Given the description of an element on the screen output the (x, y) to click on. 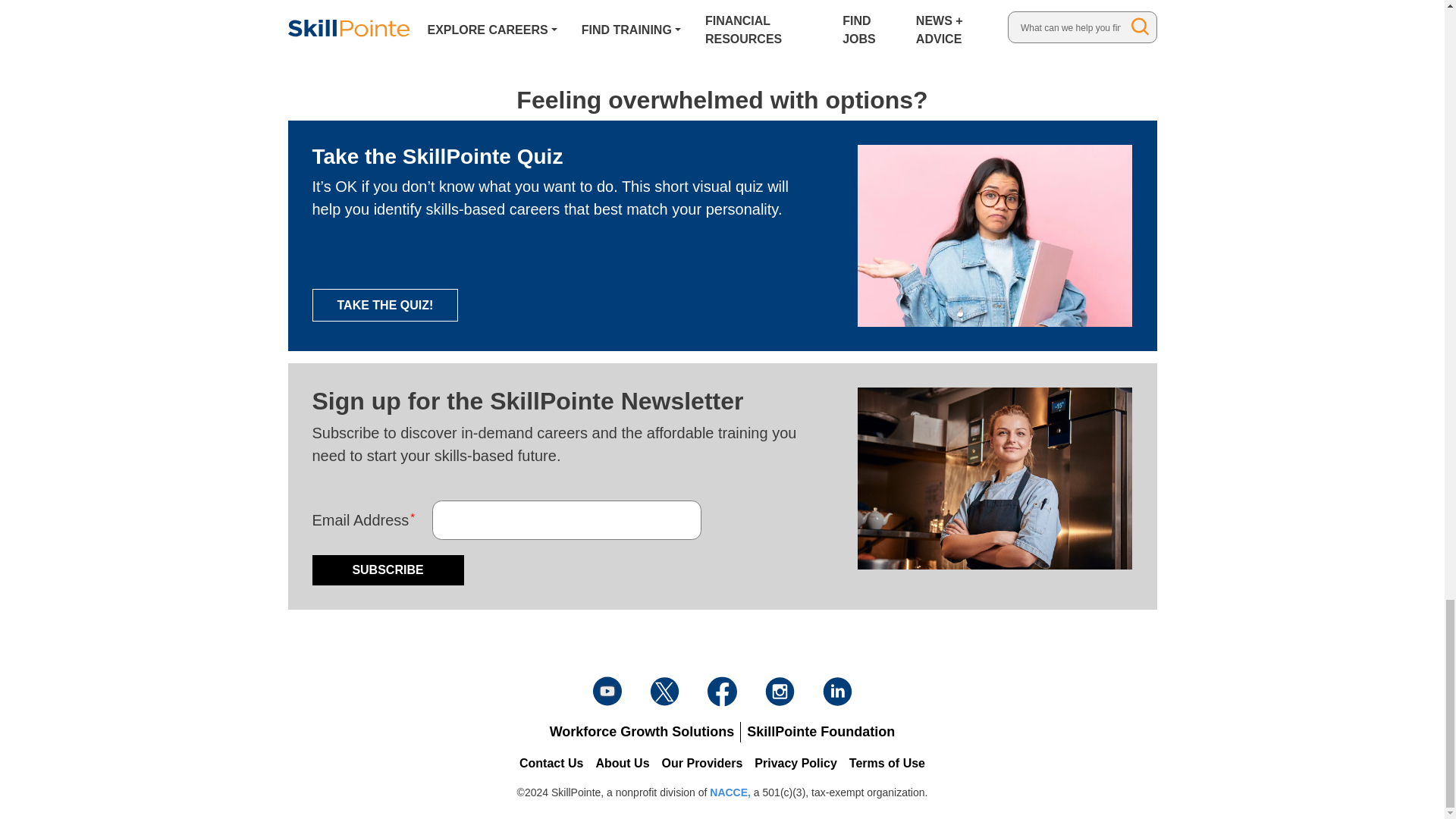
Subscribe (388, 570)
